Given the description of an element on the screen output the (x, y) to click on. 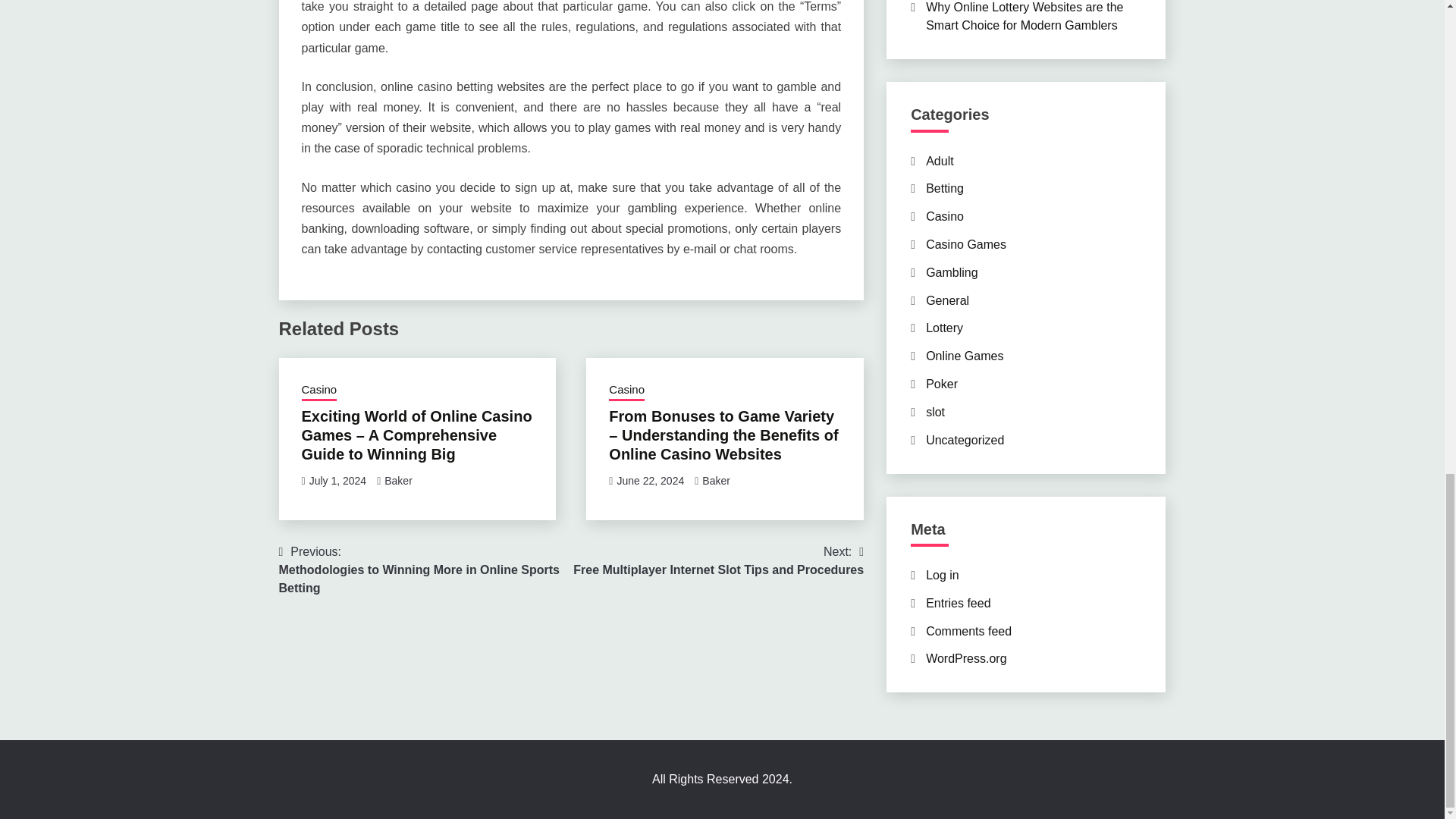
Baker (715, 480)
Casino (319, 391)
Casino Games (966, 244)
June 22, 2024 (649, 480)
July 1, 2024 (337, 480)
Gambling (951, 272)
Casino (718, 560)
Baker (626, 391)
Betting (398, 480)
Adult (944, 187)
Casino (939, 160)
